Given the description of an element on the screen output the (x, y) to click on. 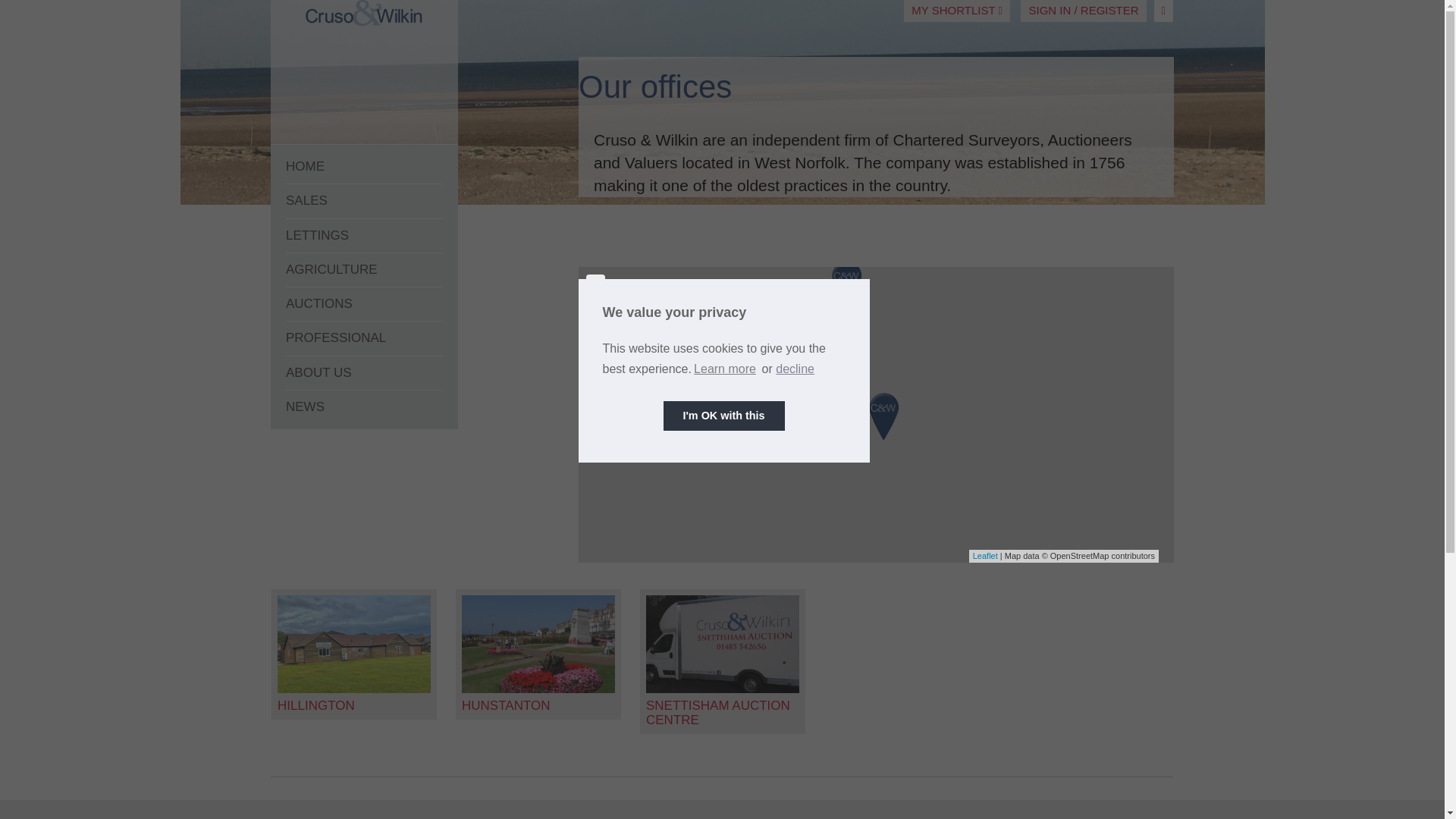
HUNSTANTON (505, 705)
AGRICULTURE (363, 270)
I'm OK with this (723, 415)
AUCTIONS (363, 304)
PROFESSIONAL (363, 338)
HILLINGTON (316, 705)
Leaflet (984, 555)
Zoom out (595, 303)
ABOUT US (363, 373)
LETTINGS (363, 236)
decline (794, 368)
Learn more (724, 368)
A JS library for interactive maps (984, 555)
NEWS (363, 407)
Zoom in (595, 284)
